Given the description of an element on the screen output the (x, y) to click on. 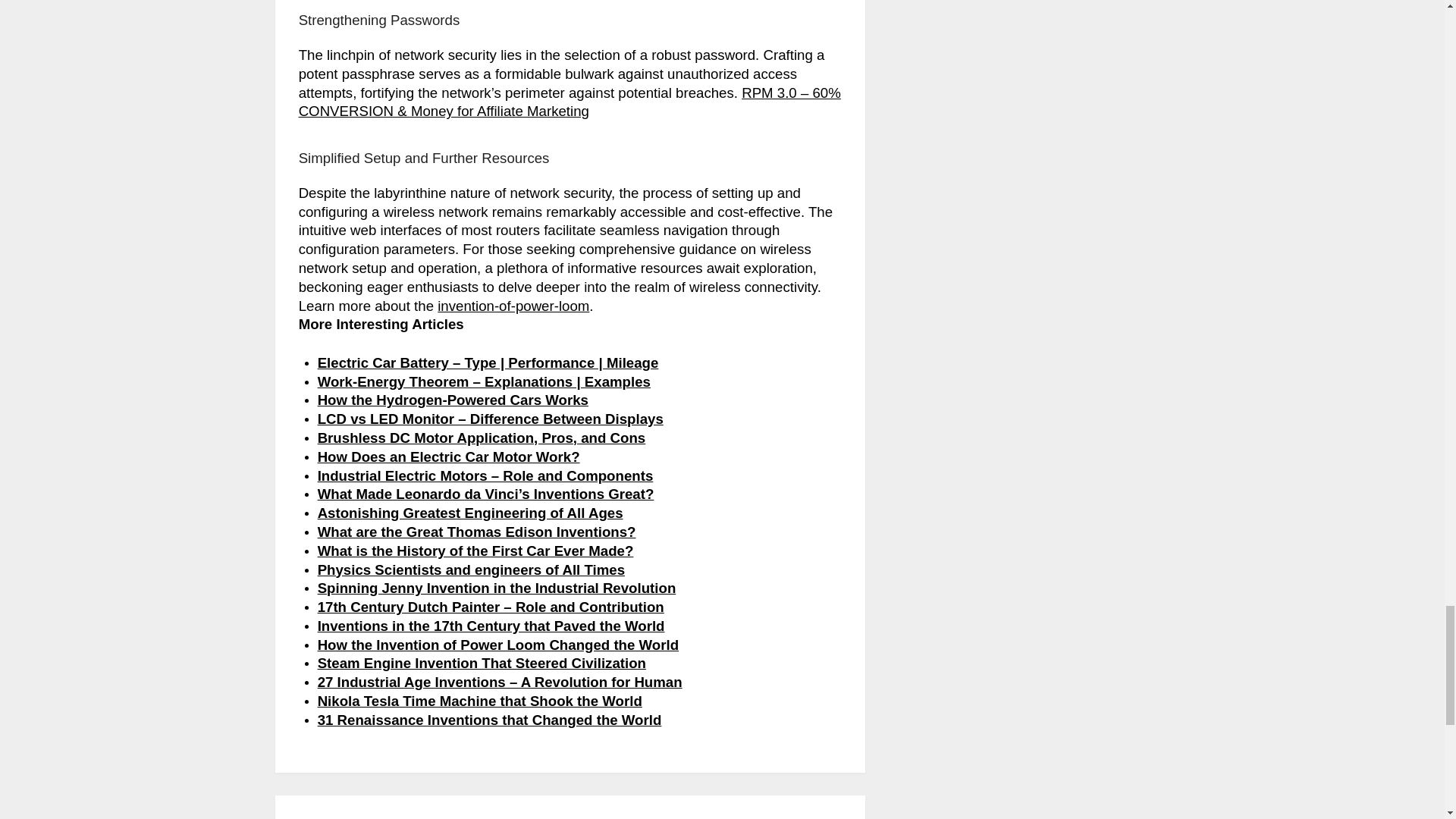
Brushless DC Motor Application, Pros, and Cons (481, 437)
Physics Scientists and engineers of All Times (470, 569)
What are the Great Thomas Edison Inventions? (476, 531)
How Does an Electric Car Motor Work? (448, 456)
What is the History of the First Car Ever Made? (475, 550)
How the Hydrogen-Powered Cars Works (452, 399)
Spinning Jenny Invention in the Industrial Revolution (497, 587)
invention-of-power-loom (513, 305)
How the Invention of Power Loom Changed the World (497, 644)
Inventions in the 17th Century that Paved the World (491, 625)
Steam Engine Invention That Steered Civilization (481, 662)
Astonishing Greatest Engineering of All Ages (470, 512)
